Given the description of an element on the screen output the (x, y) to click on. 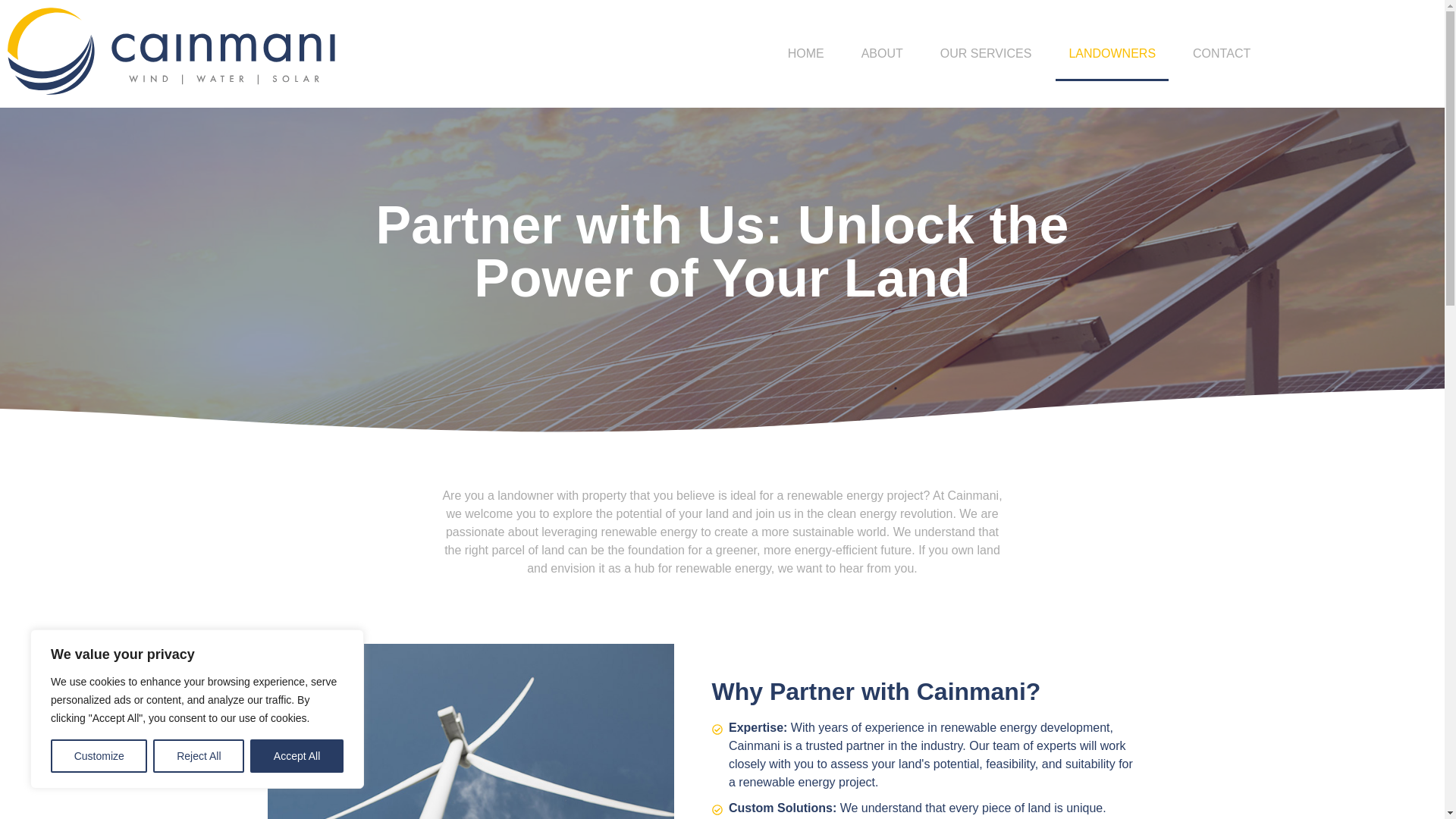
ABOUT (881, 53)
CONTACT (1221, 53)
Customize (98, 756)
Reject All (198, 756)
LANDOWNERS (1112, 53)
HOME (805, 53)
OUR SERVICES (986, 53)
Accept All (296, 756)
